Given the description of an element on the screen output the (x, y) to click on. 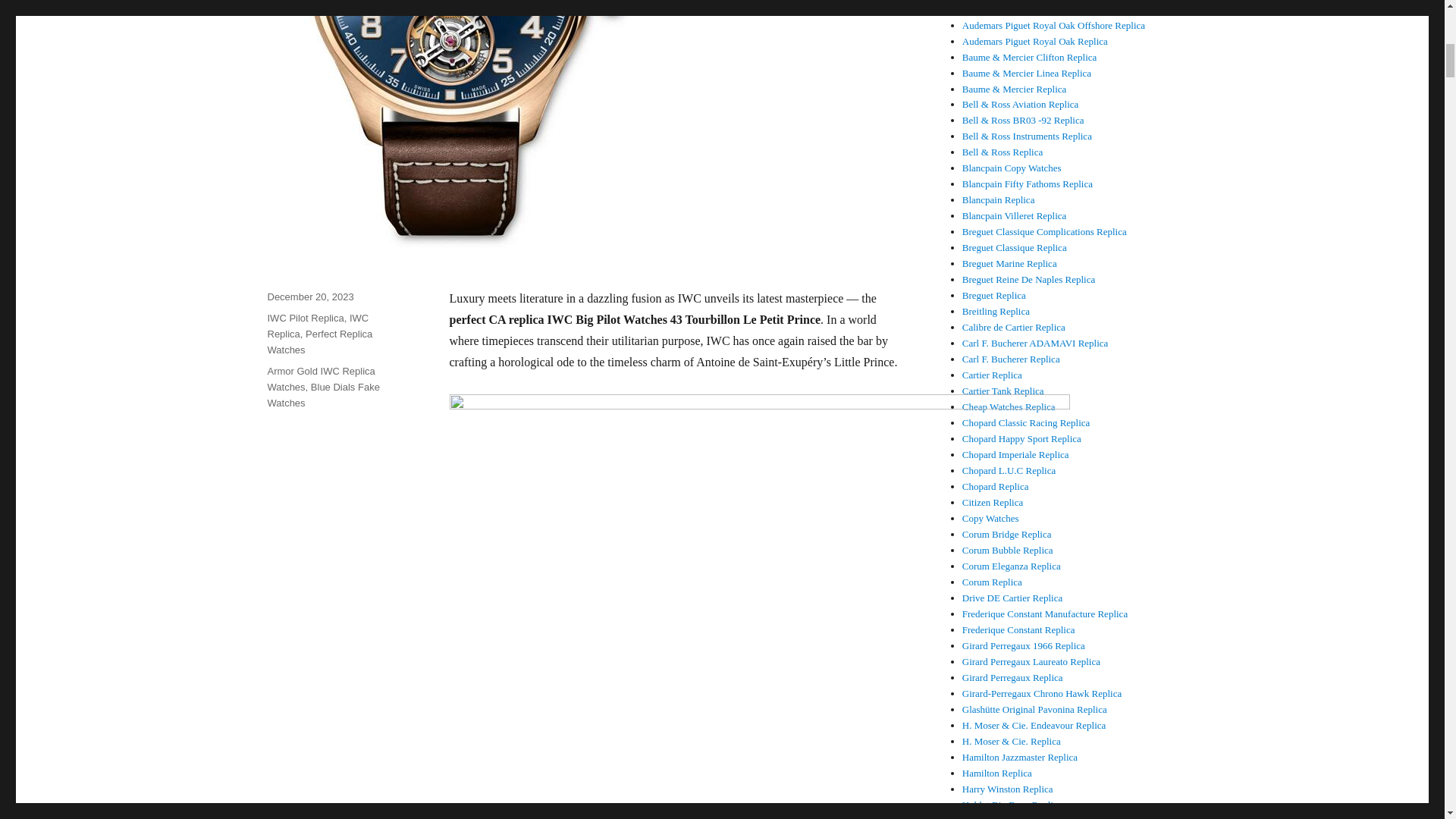
Blue Dials Fake Watches (322, 394)
December 20, 2023 (309, 296)
IWC Pilot Replica (304, 317)
IWC Replica (317, 325)
Roayl-Oak series is one of the most luxury sports watches. (1035, 41)
Perfect Replica Watches (319, 341)
